Given the description of an element on the screen output the (x, y) to click on. 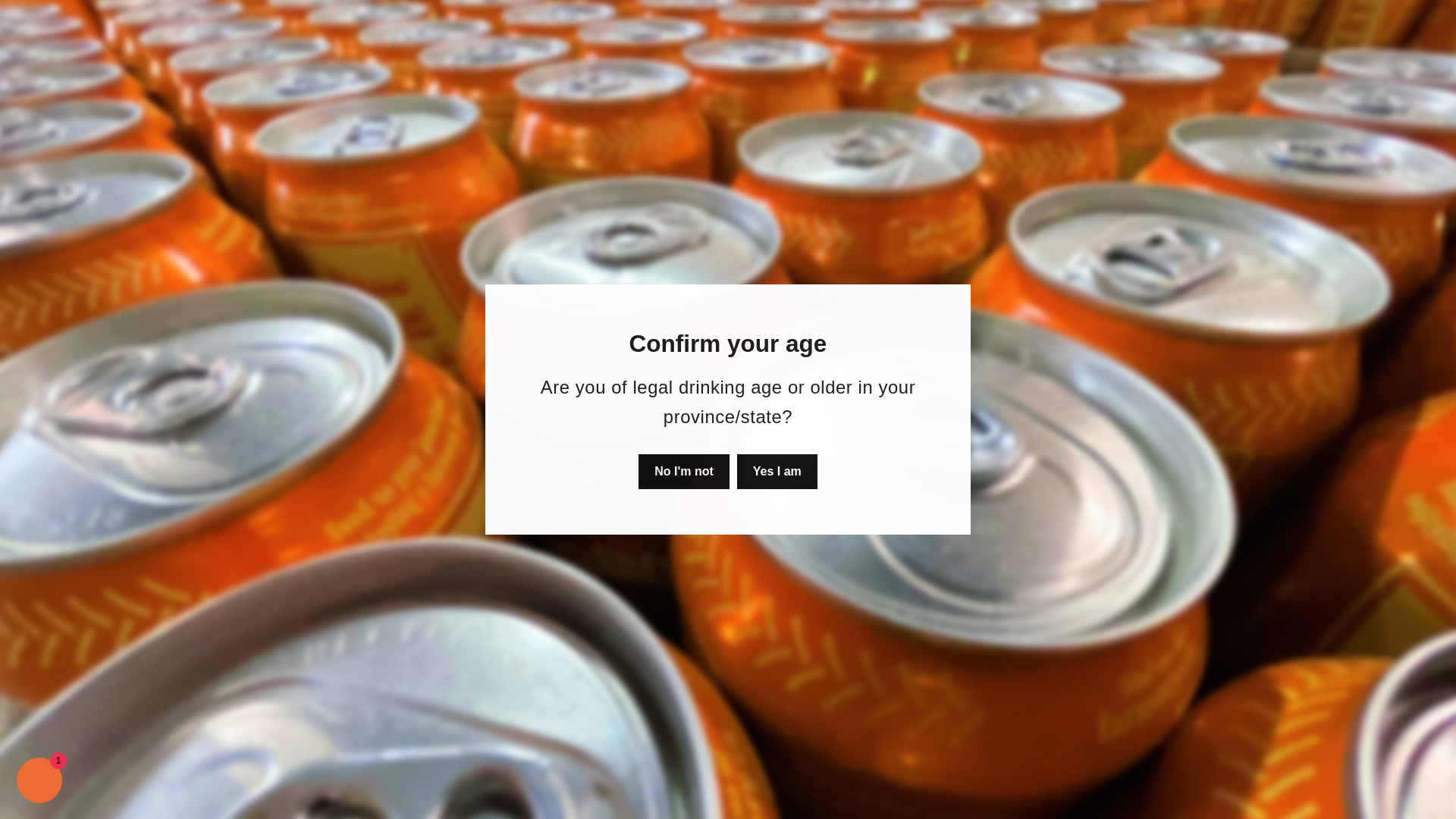
Brandon Sun 5-Star Review of the Farmery Food Truck (607, 304)
